Given the description of an element on the screen output the (x, y) to click on. 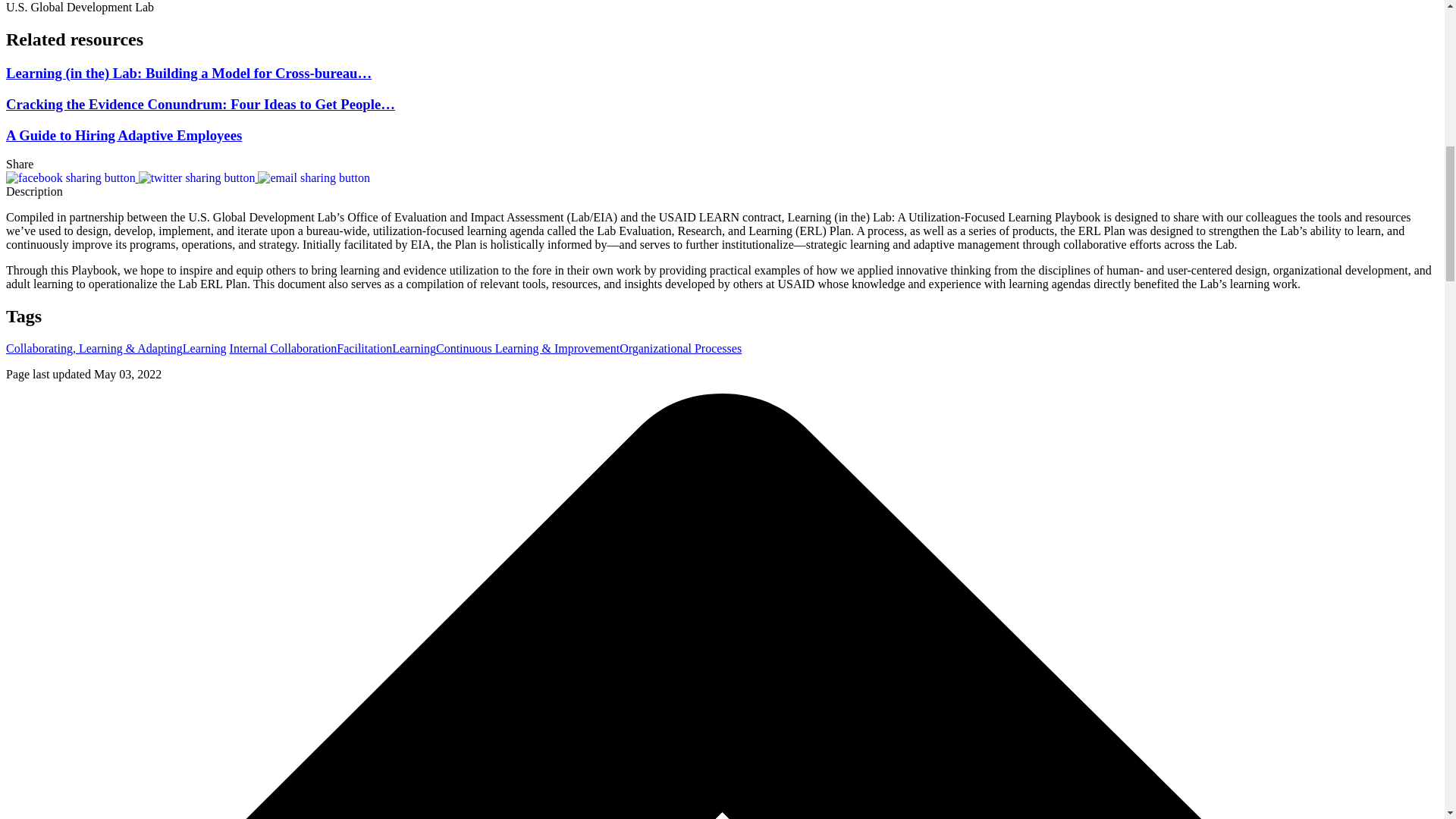
Facilitation (363, 348)
Organizational Processes (680, 348)
Internal Collaboration (283, 348)
Learning (205, 348)
Learning (413, 348)
Share this page on Facebook (71, 177)
Share this page through email. (313, 177)
Share this page on Twitter (198, 177)
